Given the description of an element on the screen output the (x, y) to click on. 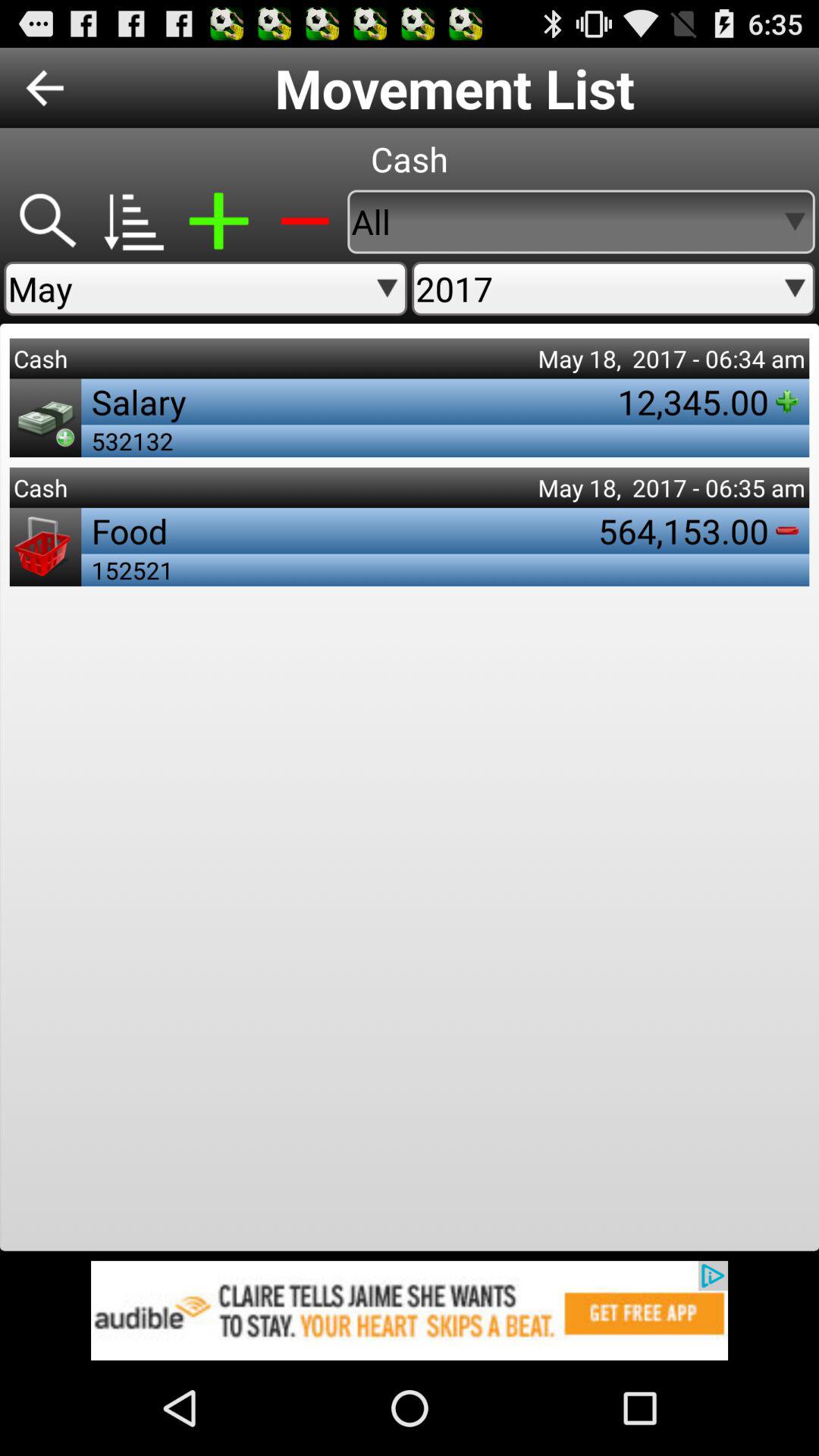
add movement (218, 221)
